Given the description of an element on the screen output the (x, y) to click on. 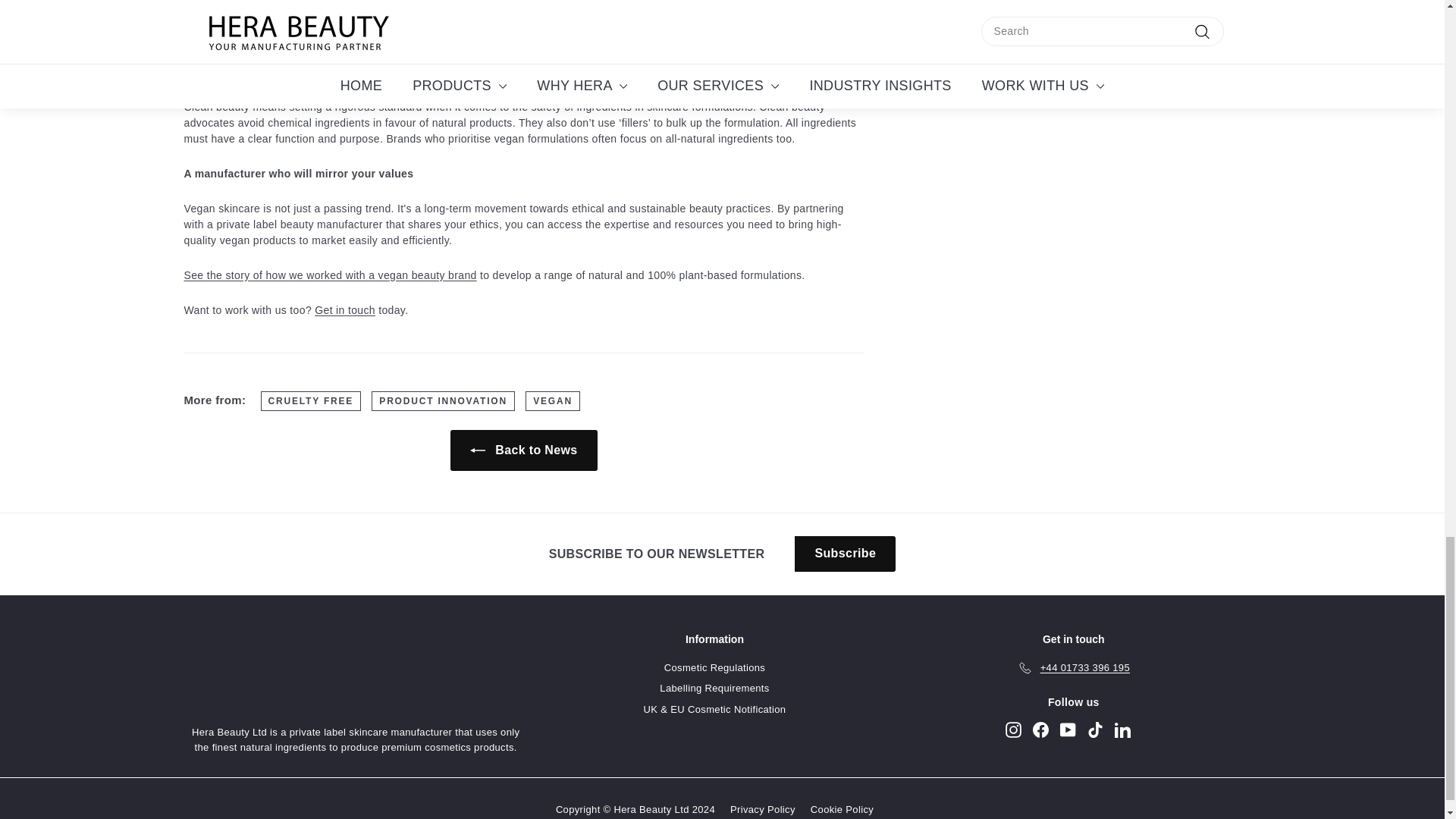
instagram (1014, 729)
Hera Beauty Ltd on LinkedIn (1123, 729)
Hera Beauty Ltd on Instagram (1014, 729)
Hera Beauty Ltd on Facebook (1040, 729)
Hera Beauty Ltd on TikTok (1095, 729)
icon-left-arrow (477, 450)
Hera Beauty Ltd on YouTube (1067, 729)
